Given the description of an element on the screen output the (x, y) to click on. 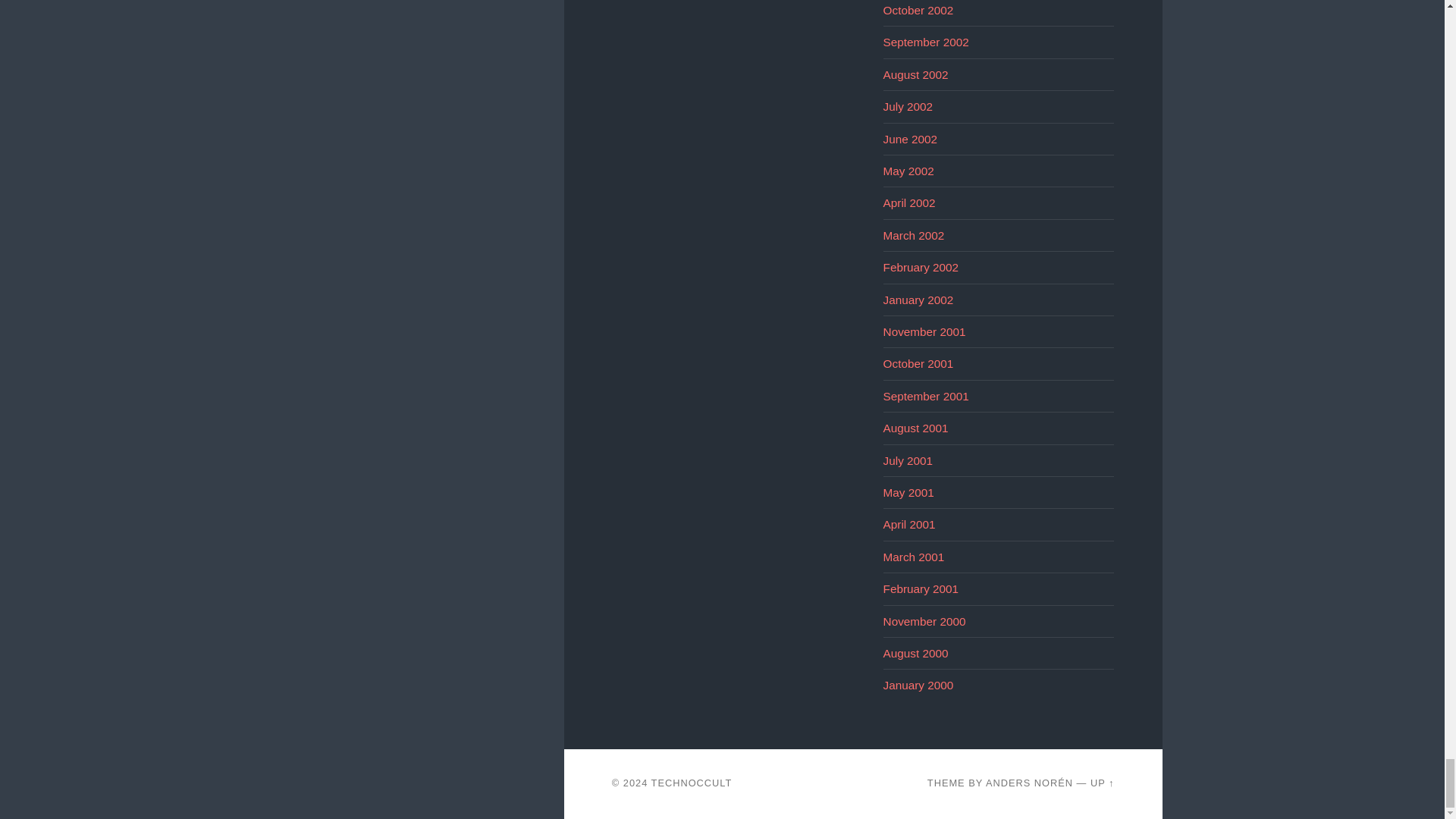
To the top (1102, 782)
Technoccult (691, 782)
